Given the description of an element on the screen output the (x, y) to click on. 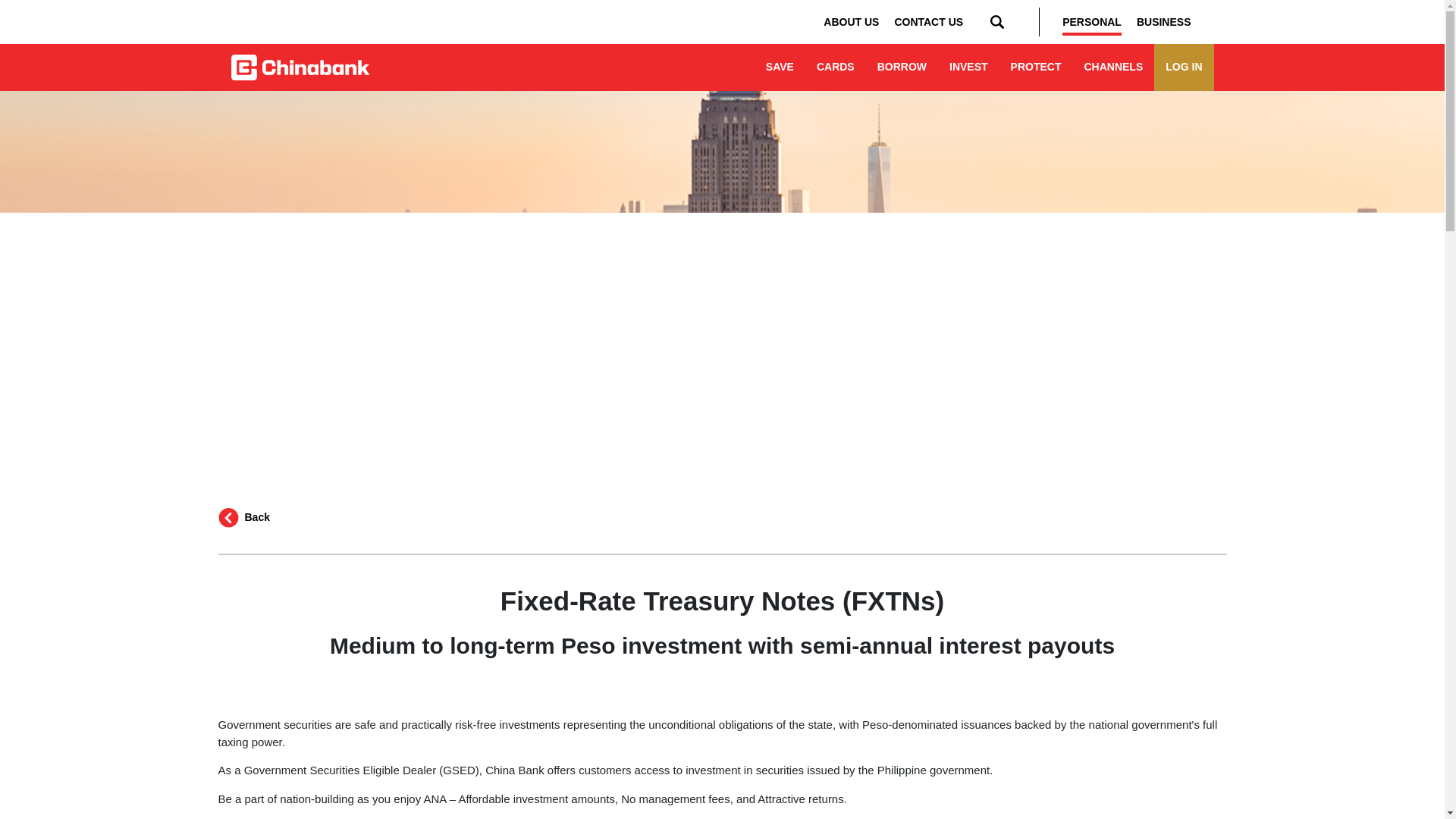
PROTECT (1035, 67)
SAVE (779, 67)
CARDS (835, 67)
CONTACT US (927, 22)
BORROW (901, 67)
ABOUT US (851, 22)
PERSONAL (1091, 22)
BUSINESS (1164, 22)
LOG IN (1183, 67)
INVEST (967, 67)
